Given the description of an element on the screen output the (x, y) to click on. 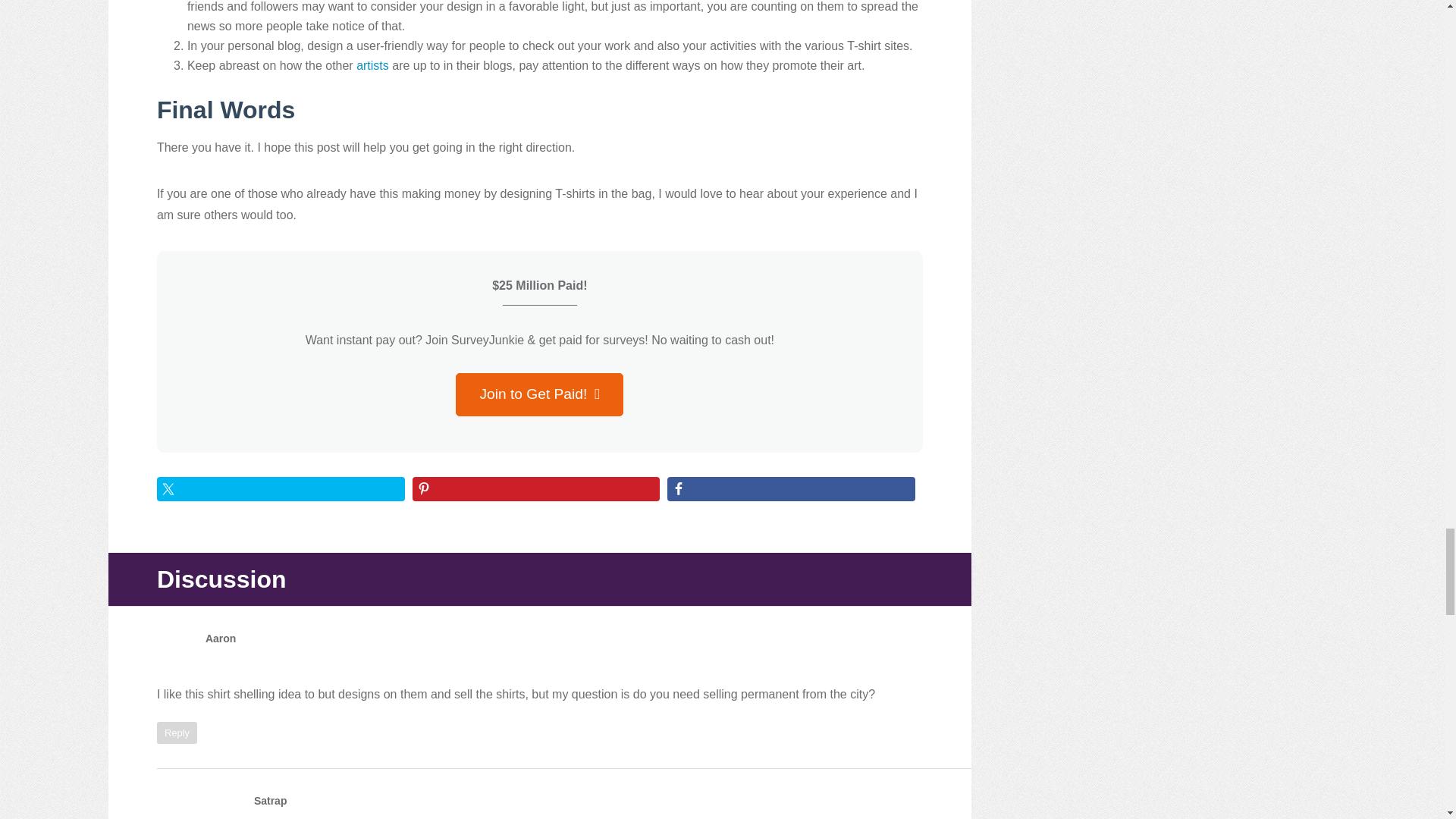
artists (372, 65)
Reply (176, 732)
Join to Get Paid! (539, 394)
